Given the description of an element on the screen output the (x, y) to click on. 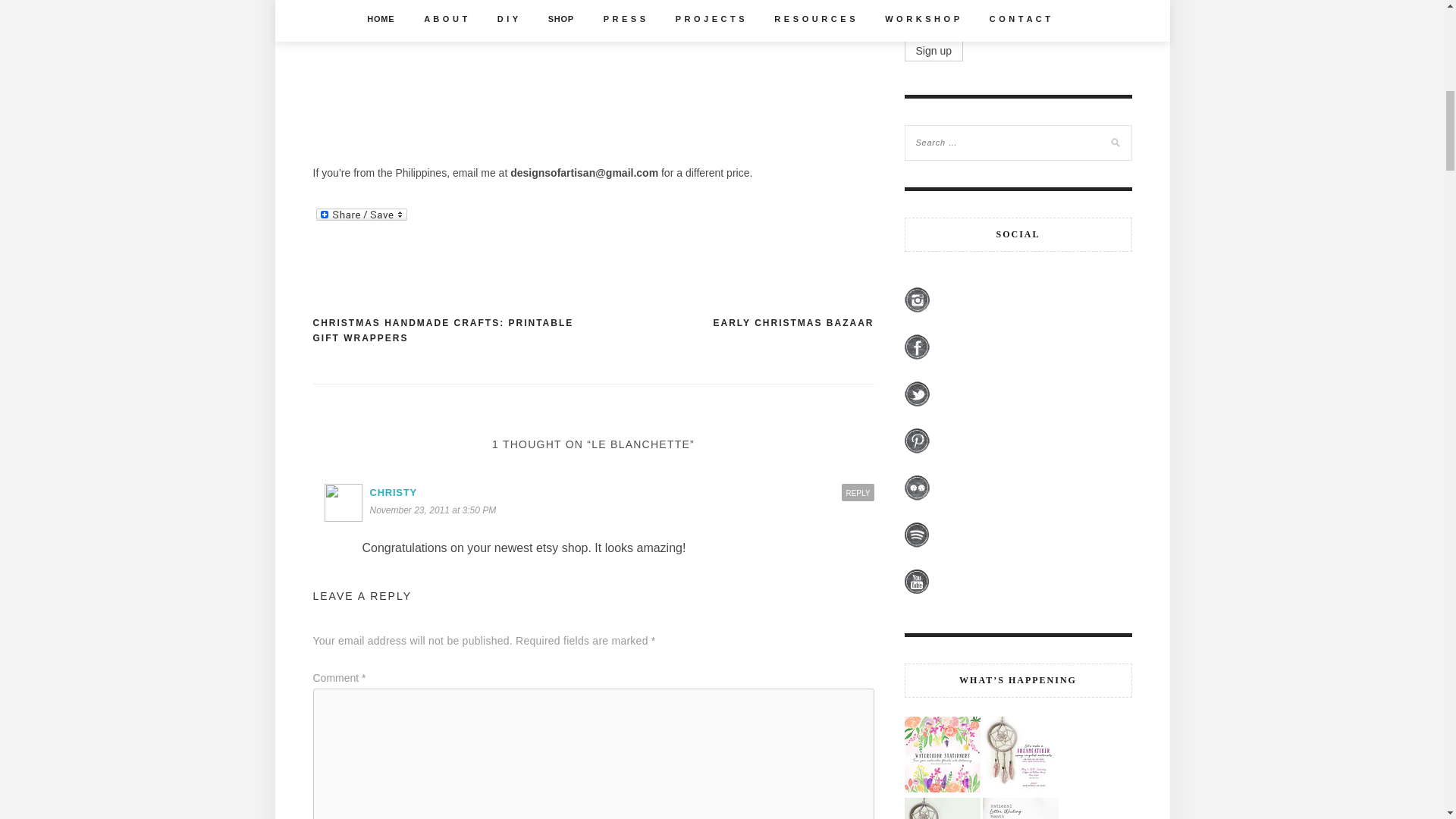
EARLY CHRISTMAS BAZAAR (793, 323)
Sign up (933, 49)
November 23, 2011 at 3:50 PM (434, 509)
CHRISTMAS HANDMADE CRAFTS: PRINTABLE GIFT WRAPPERS (452, 330)
Sign up (933, 49)
CHRISTY (392, 491)
Le Blanchette (593, 81)
REPLY (857, 493)
